Given the description of an element on the screen output the (x, y) to click on. 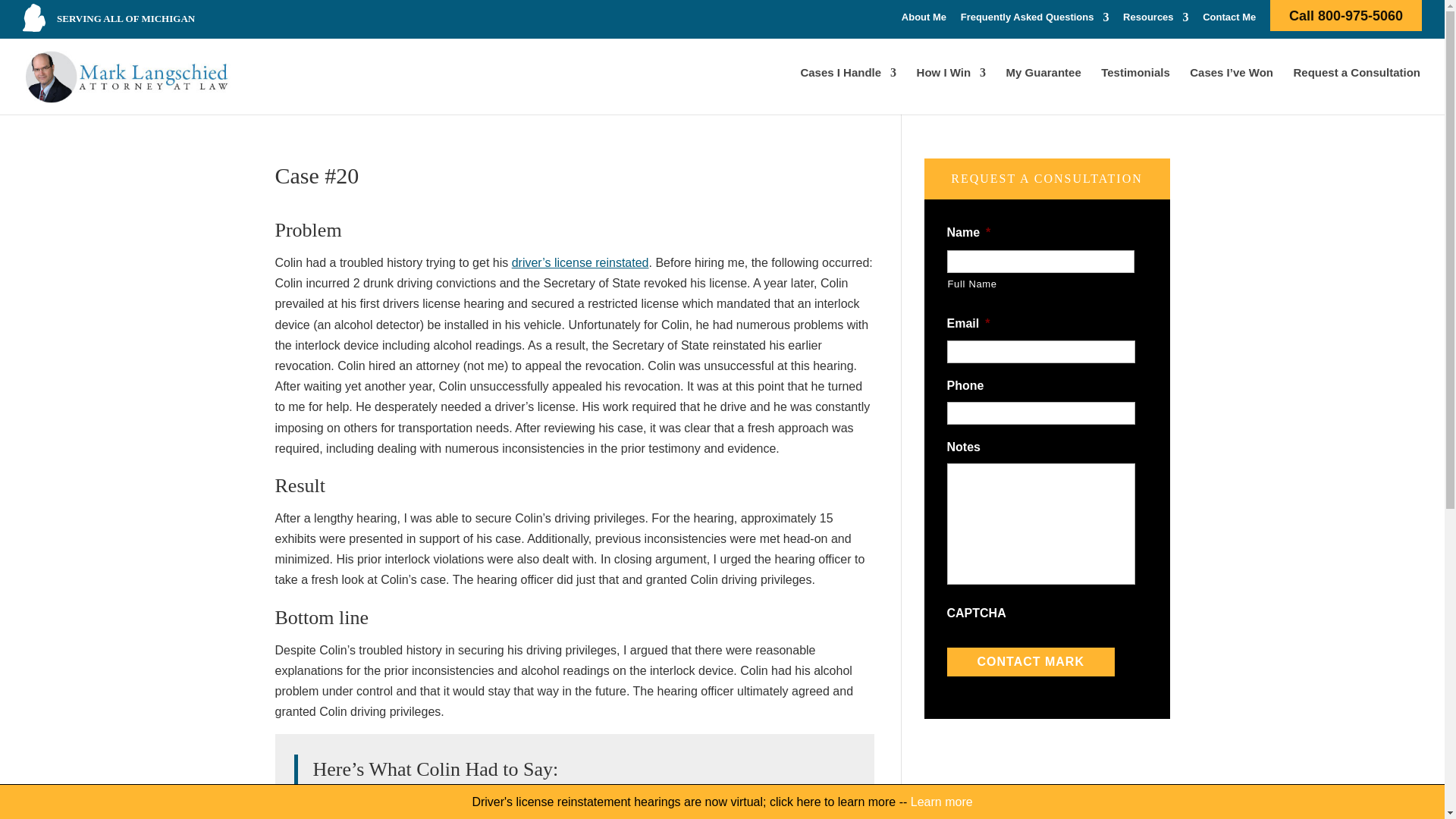
Frequently Asked Questions (1034, 20)
About Me (923, 20)
SERVING ALL OF MICHIGAN (125, 18)
Resources (1155, 20)
How I Win (952, 87)
My Guarantee (1043, 87)
Cases I Handle (847, 87)
Contact Me (1228, 20)
Request a Consultation (1356, 87)
Call 800-975-5060 (1345, 19)
Testimonials (1135, 87)
Contact Mark (1029, 661)
